Given the description of an element on the screen output the (x, y) to click on. 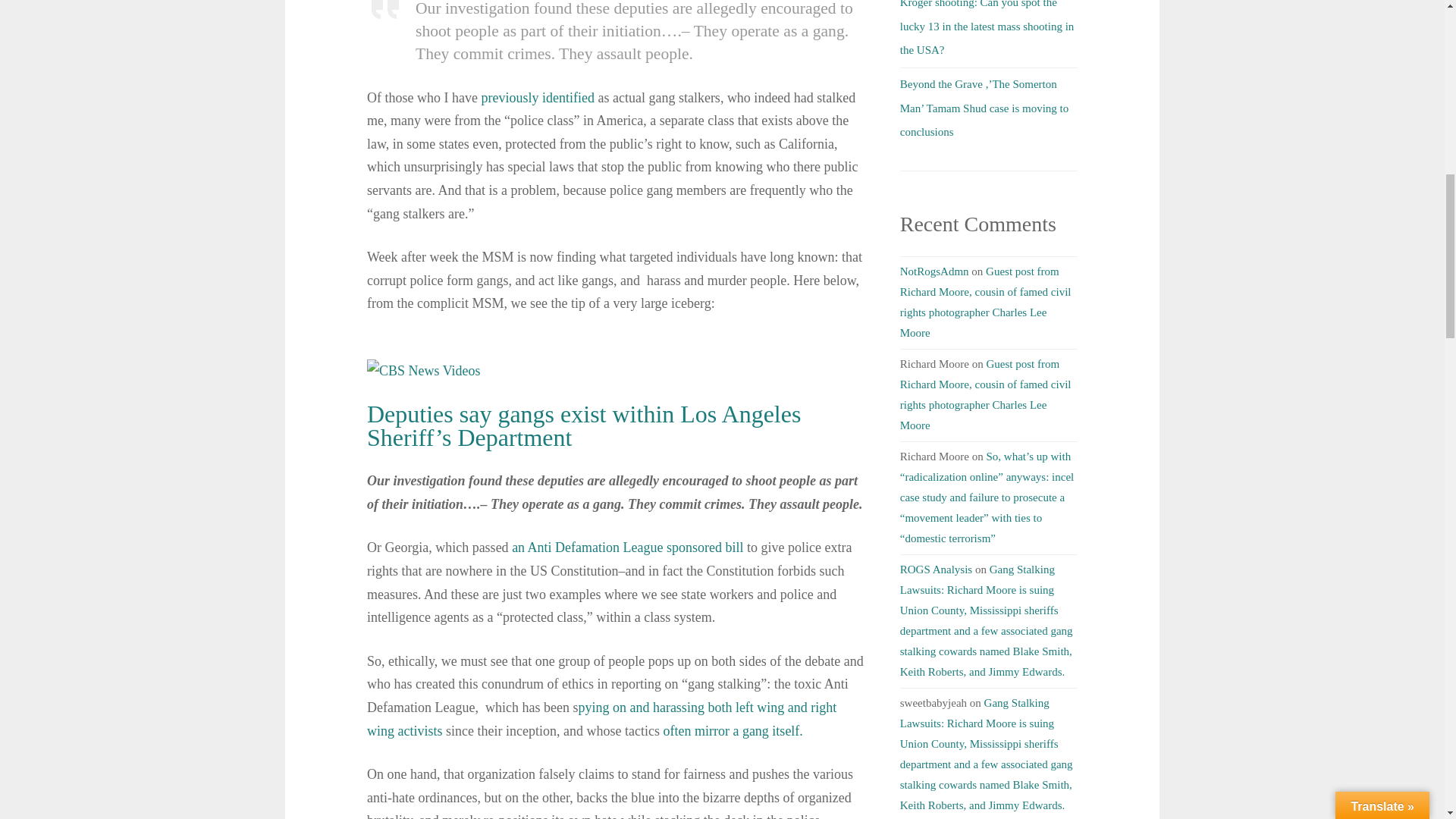
an Anti Defamation League sponsored bill (626, 547)
often mirror a gang itself. (732, 730)
previously identified (537, 97)
